Given the description of an element on the screen output the (x, y) to click on. 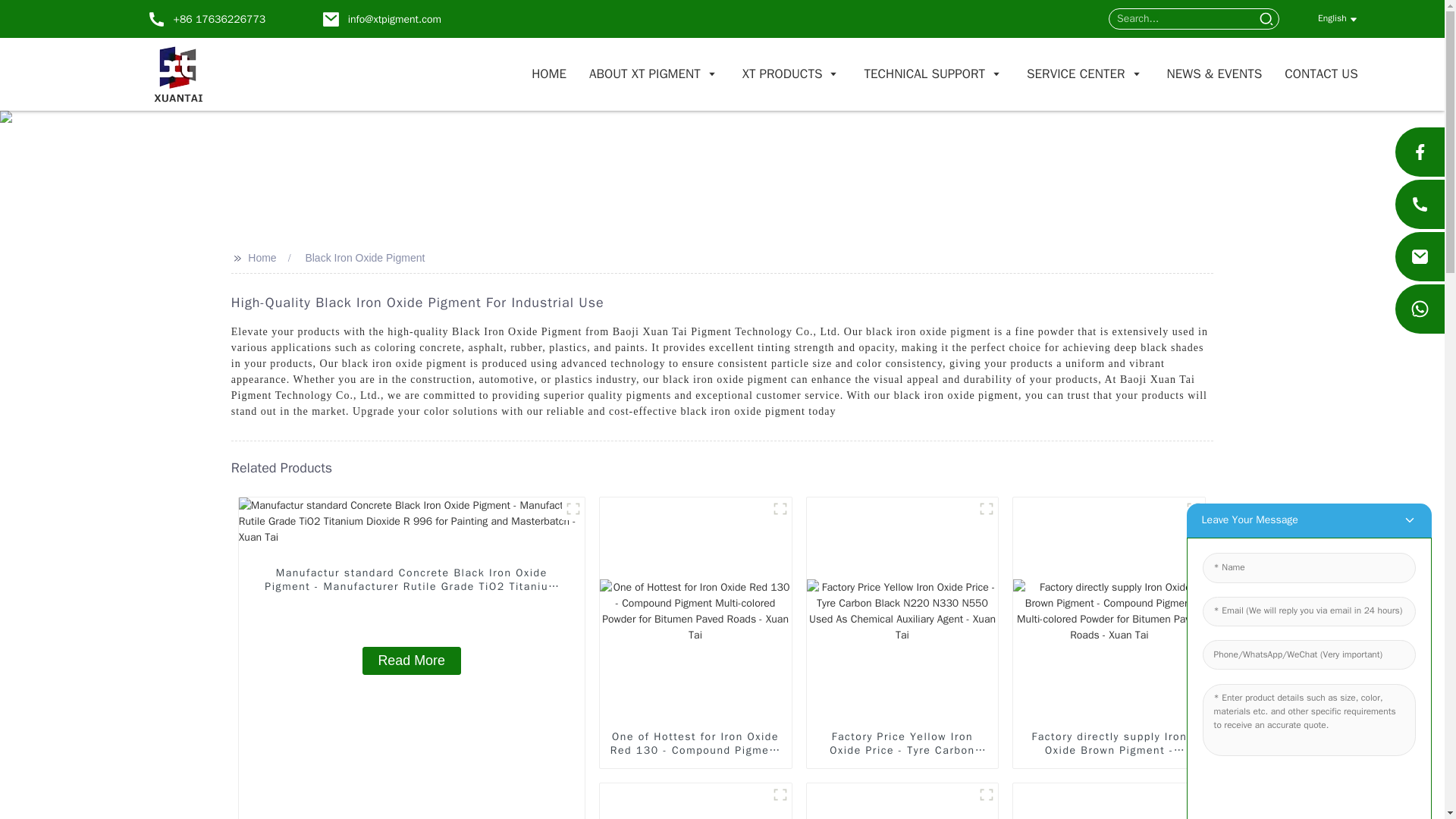
ABOUT XT PIGMENT (654, 74)
TECHNICAL SUPPORT (933, 74)
XT PRODUCTS (791, 74)
